Given the description of an element on the screen output the (x, y) to click on. 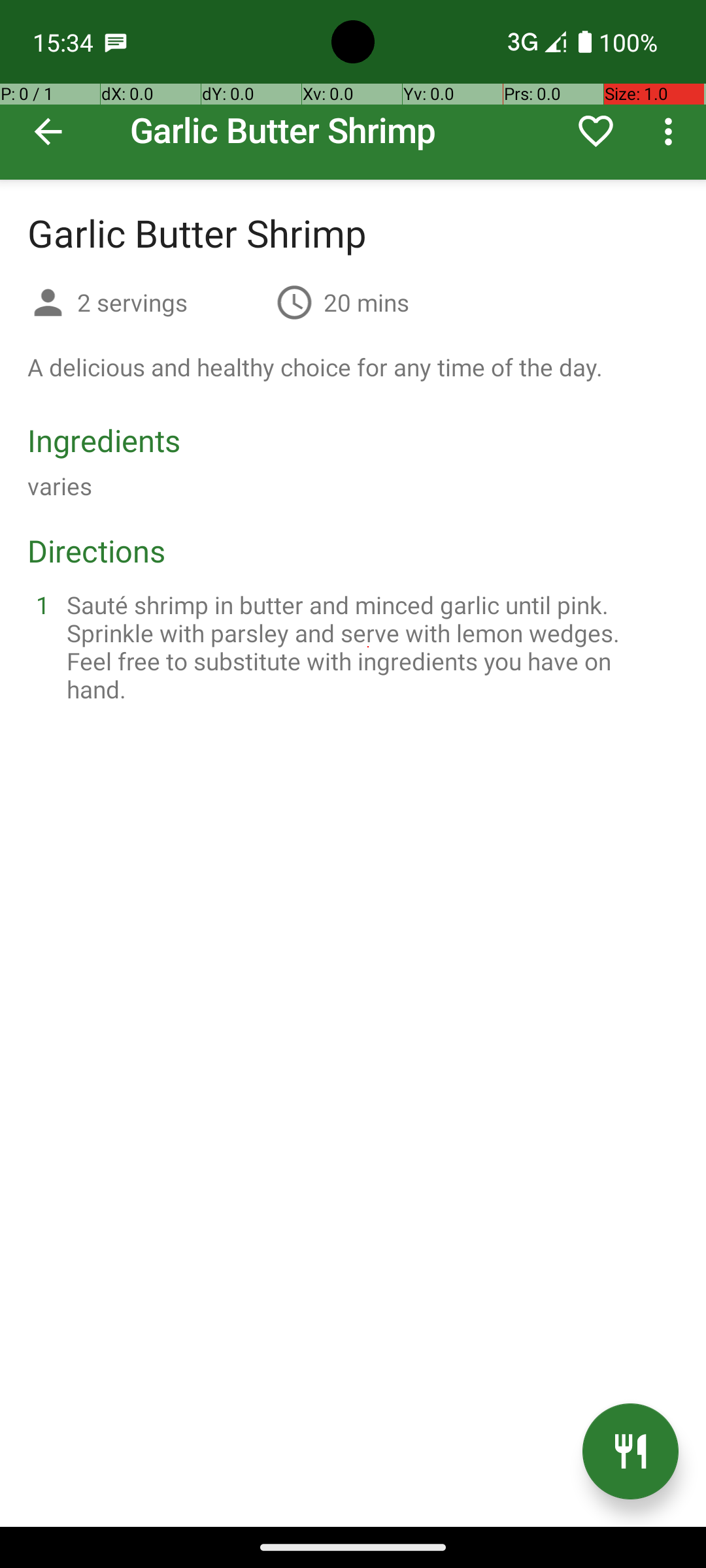
Garlic Butter Shrimp Element type: android.widget.FrameLayout (353, 89)
varies Element type: android.widget.TextView (59, 485)
Sauté shrimp in butter and minced garlic until pink. Sprinkle with parsley and serve with lemon wedges. Feel free to substitute with ingredients you have on hand. Element type: android.widget.TextView (368, 646)
